Given the description of an element on the screen output the (x, y) to click on. 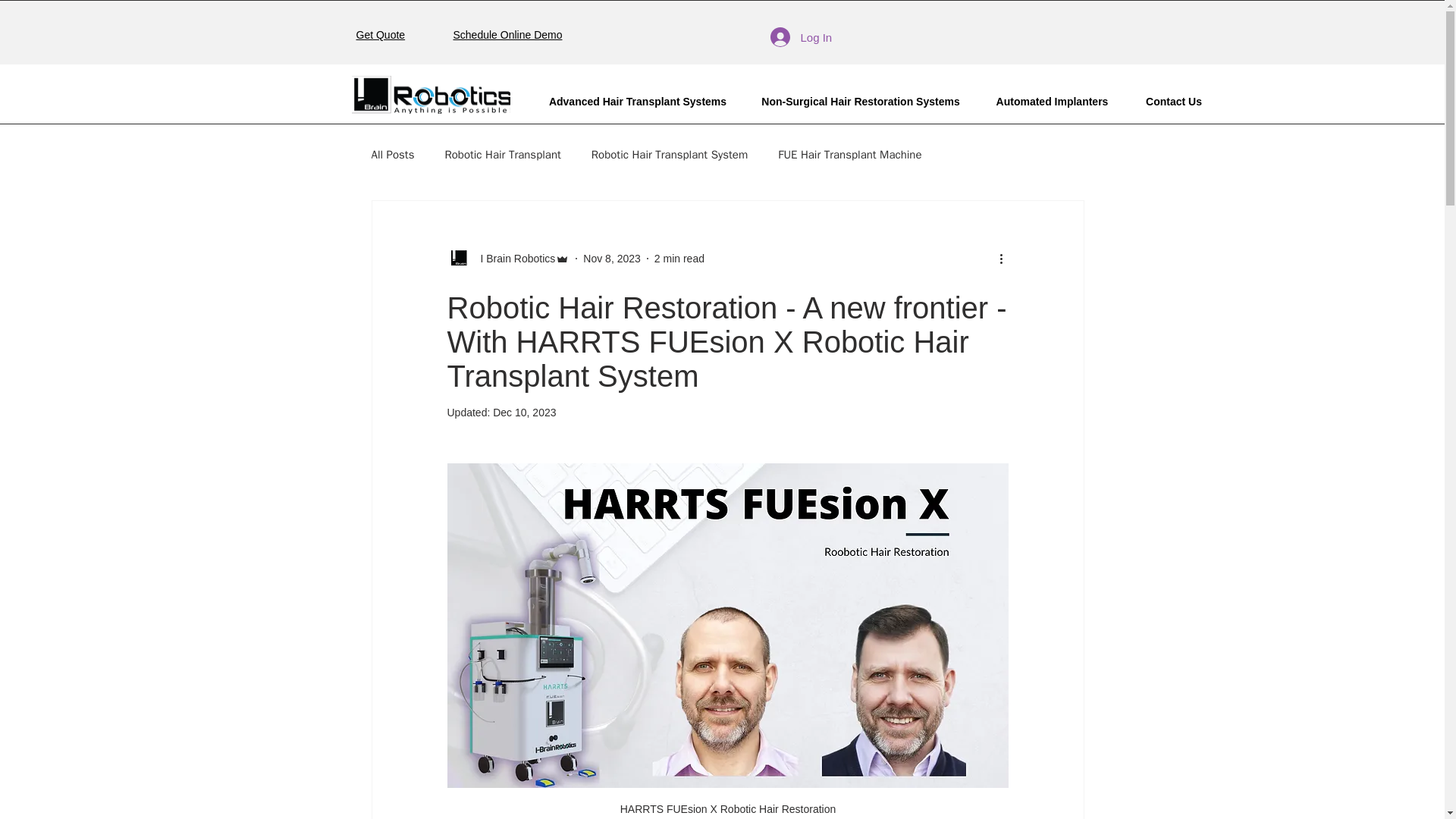
Robotic Hair Transplant System (669, 154)
All Posts (392, 154)
Get Quote (381, 34)
I Brain Robotics (513, 258)
Nov 8, 2023 (611, 257)
Robotic Hair Transplant (502, 154)
FUE Hair Transplant Machine (849, 154)
Log In (792, 36)
Dec 10, 2023 (524, 412)
